Given the description of an element on the screen output the (x, y) to click on. 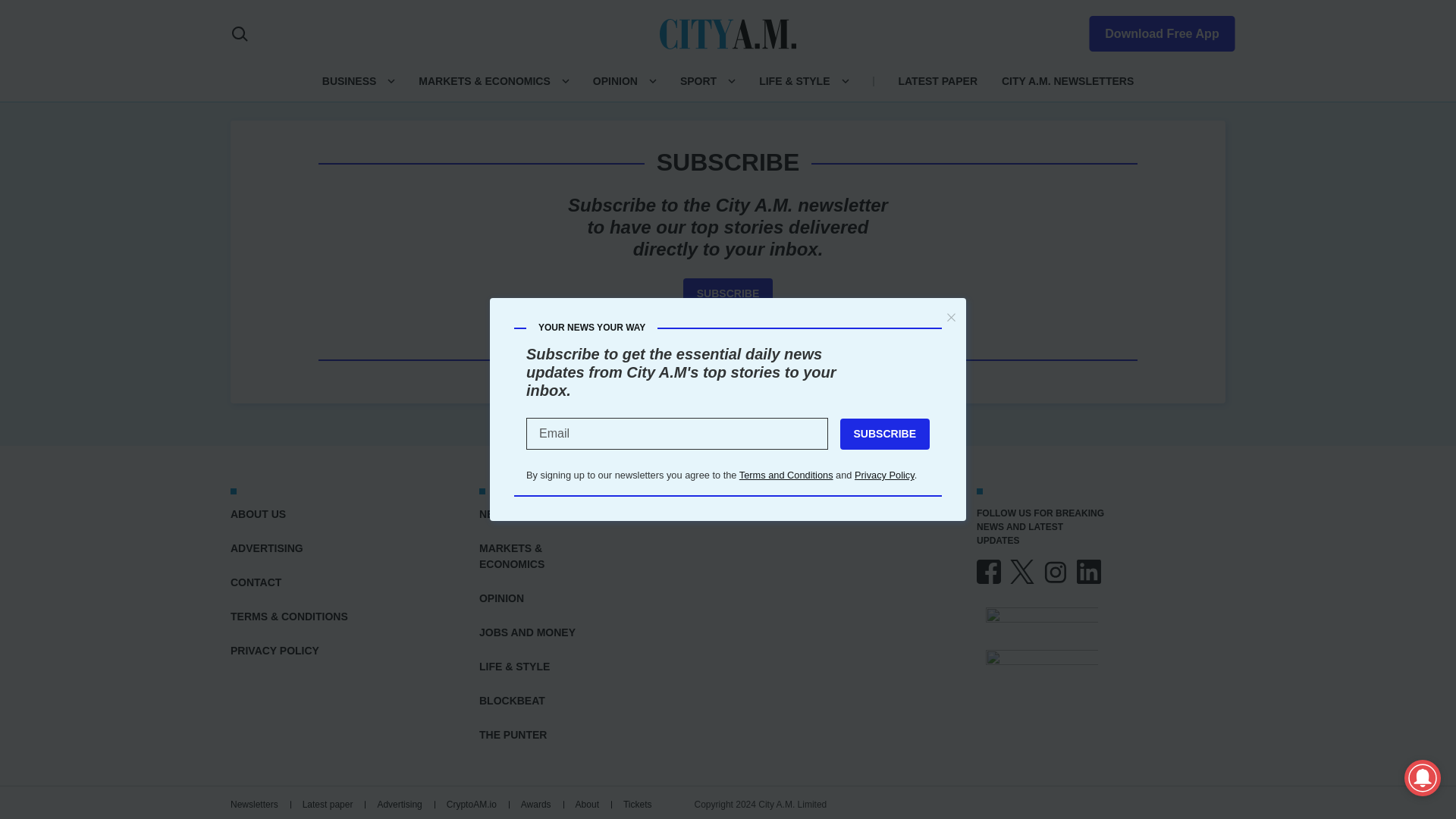
X (1021, 571)
LINKEDIN (1088, 571)
FACEBOOK (988, 571)
INSTAGRAM (1055, 571)
